Given the description of an element on the screen output the (x, y) to click on. 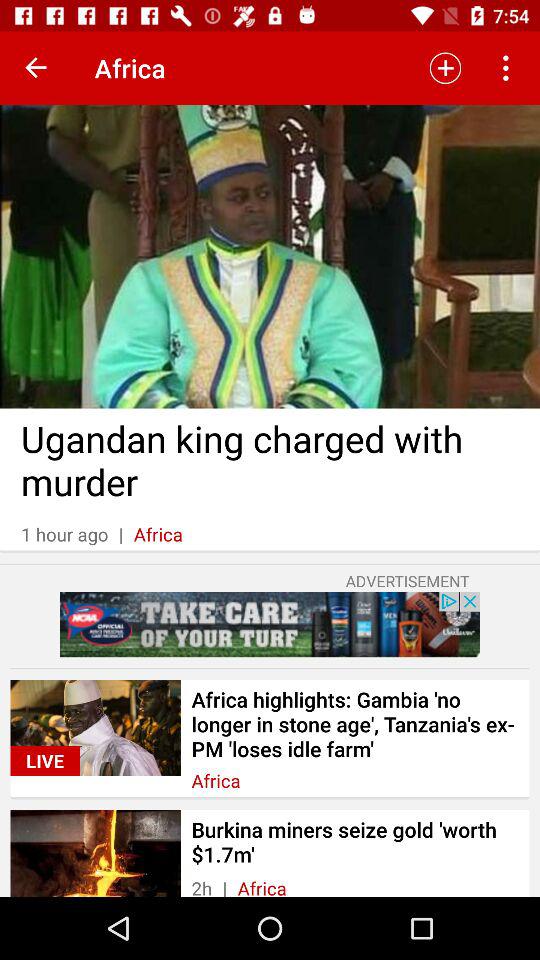
select the more options button which is on the right hand side (508, 68)
last option in the page (269, 853)
click at the icon right side of africa (445, 68)
